Given the description of an element on the screen output the (x, y) to click on. 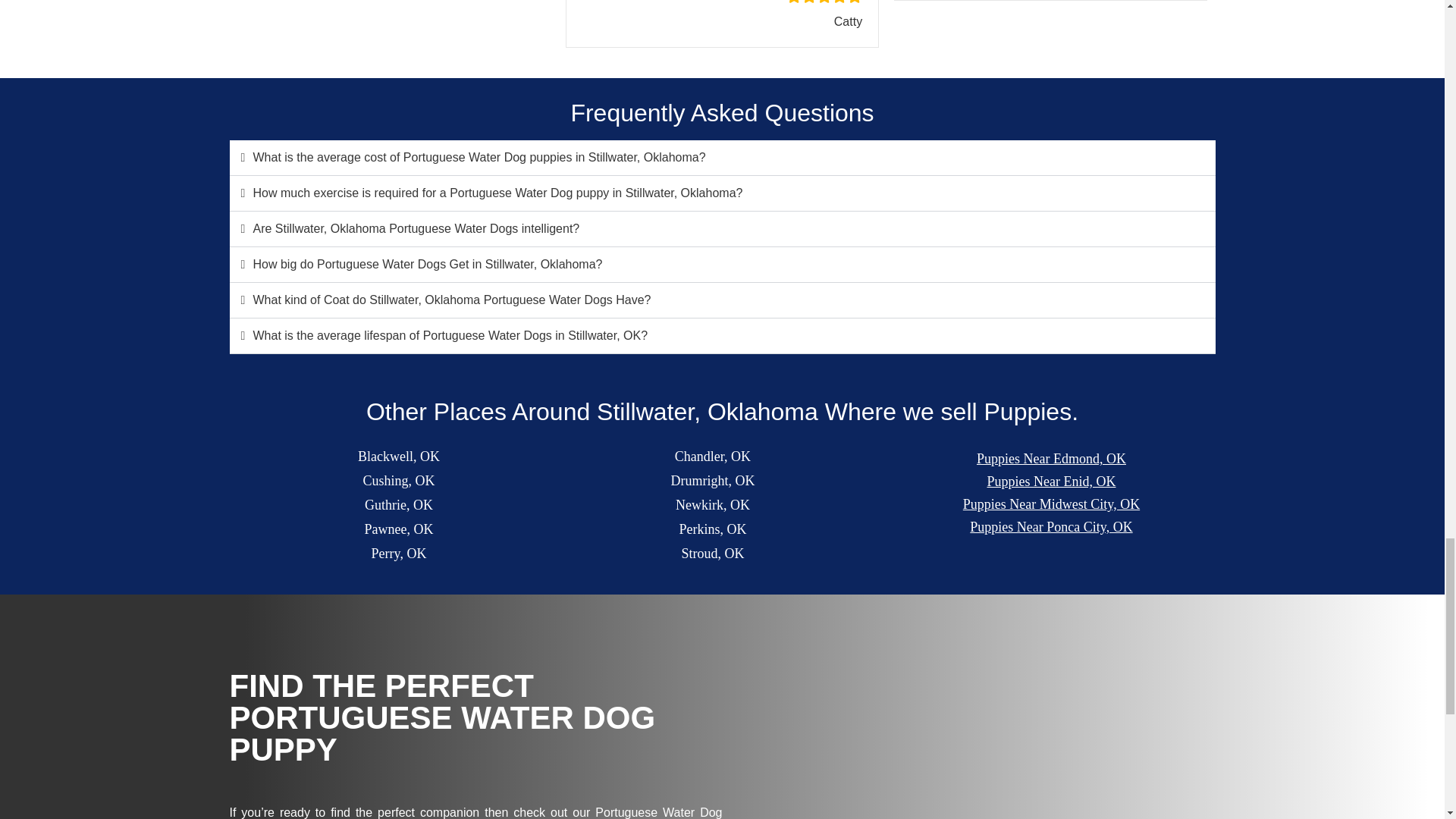
Puppies Near Edmond, OK (1050, 458)
Puppies Near Midwest City, OK (1050, 504)
Puppies Near Enid, OK (1050, 481)
Puppies Near Ponca City, OK (1050, 526)
